Given the description of an element on the screen output the (x, y) to click on. 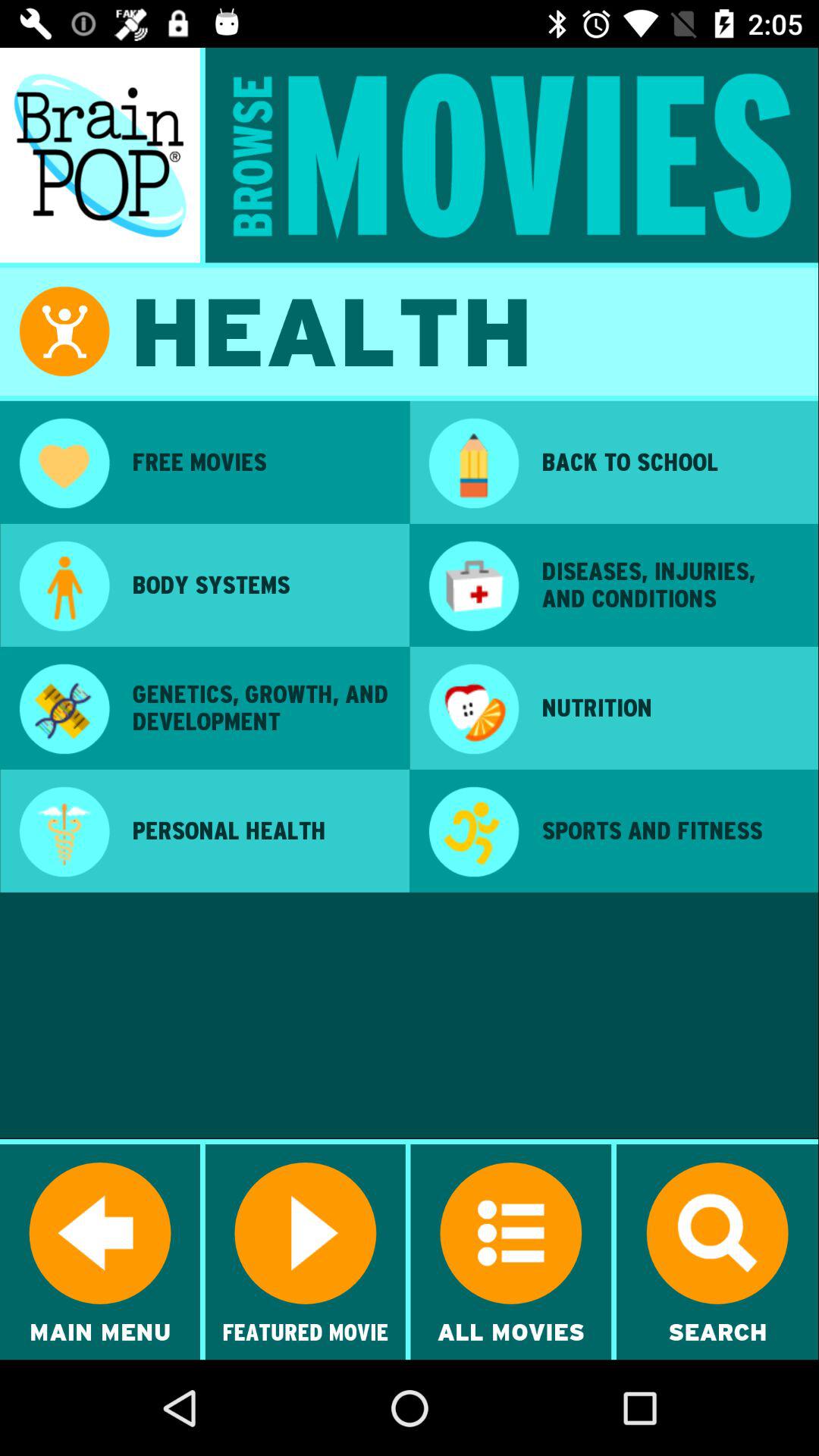
turn off the free movies (260, 462)
